Given the description of an element on the screen output the (x, y) to click on. 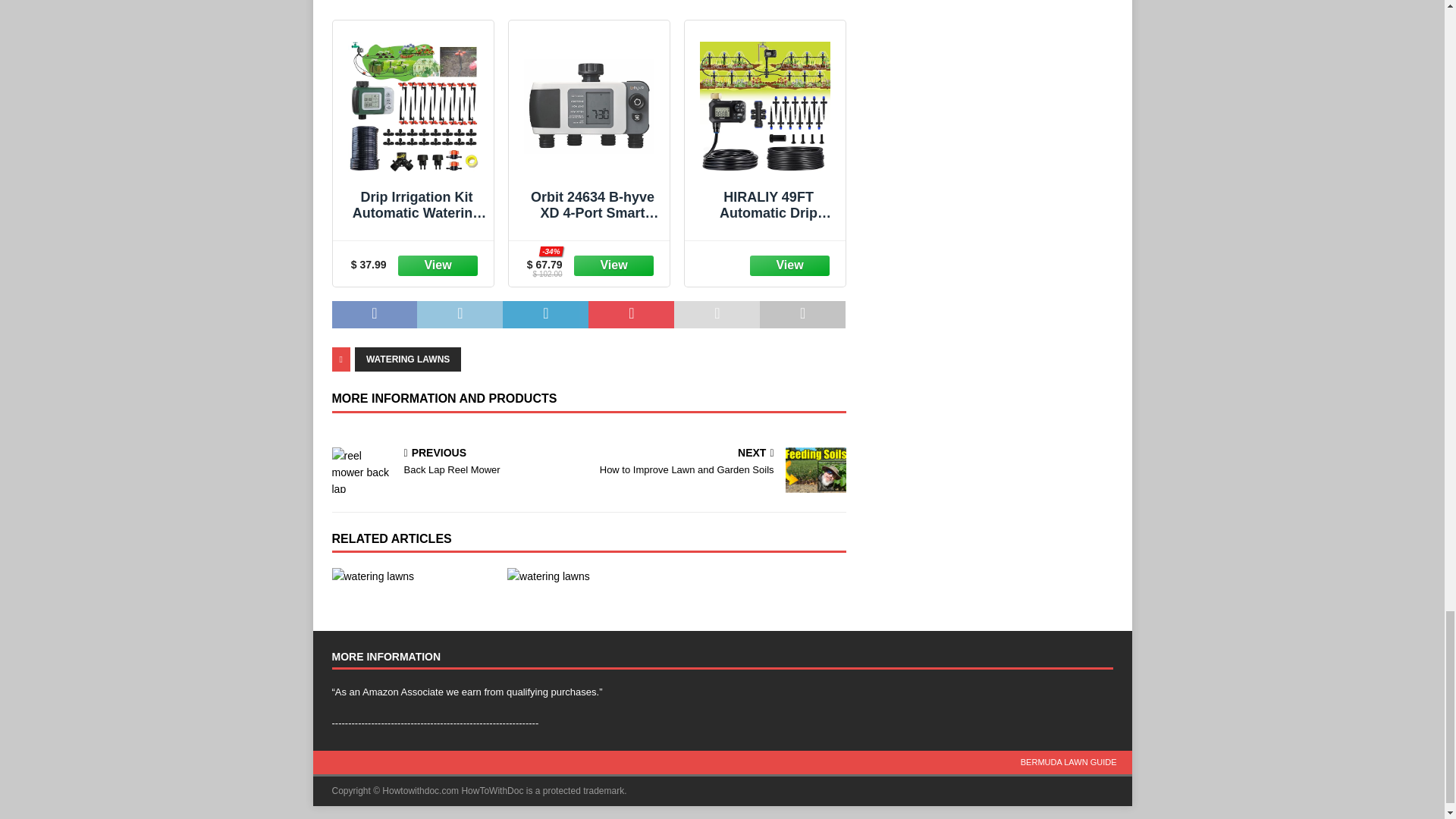
How to Water Lawns (587, 576)
How to Water Your Lawn (413, 576)
